Given the description of an element on the screen output the (x, y) to click on. 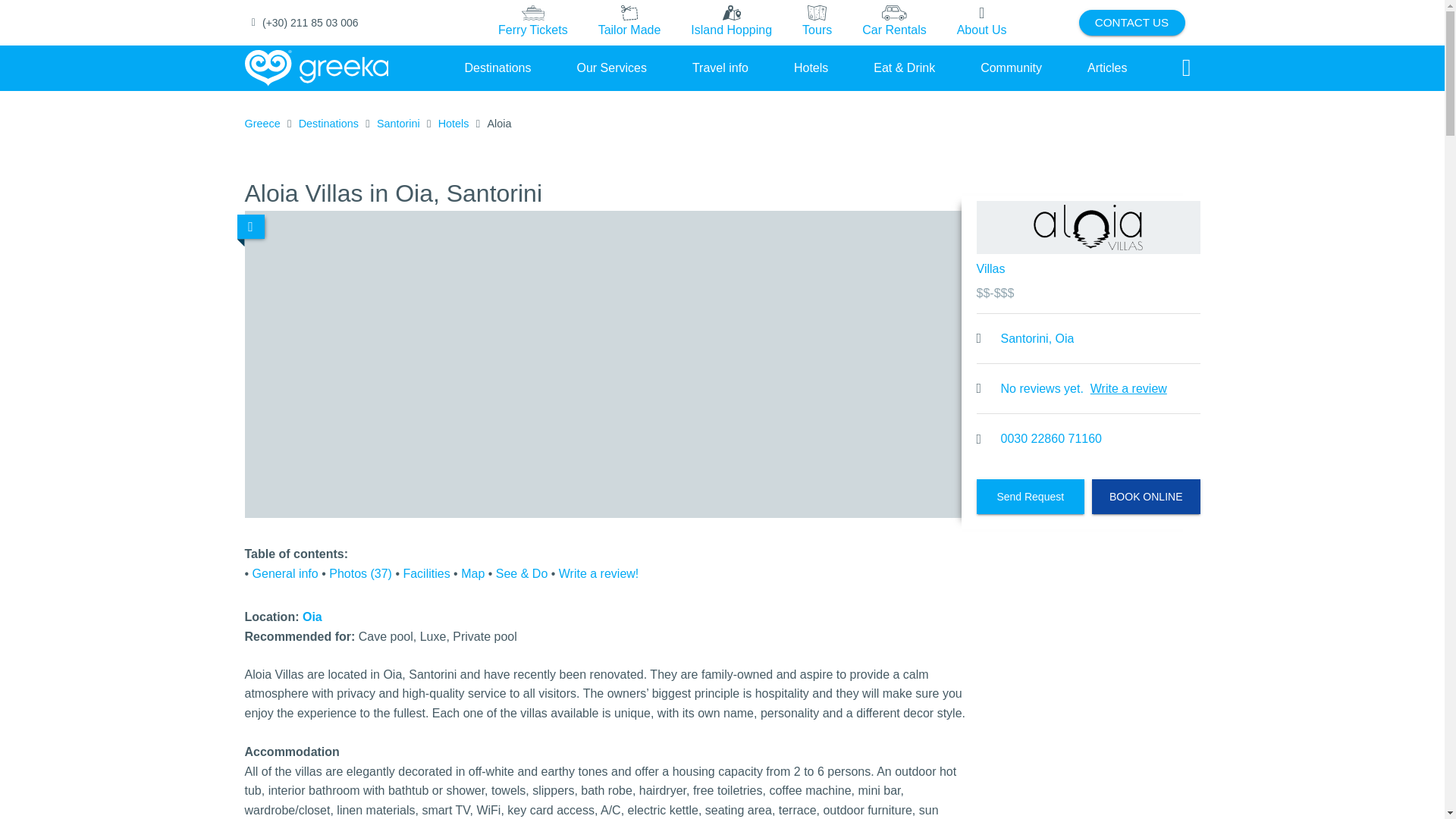
Search (1185, 67)
Send Request (1030, 496)
Hotels (453, 123)
General info (284, 573)
Greece by Greeka (316, 67)
Blog (1106, 67)
Travel info (720, 67)
Island Hopping (730, 22)
Ferry tickets (533, 22)
Travel info (720, 67)
